Given the description of an element on the screen output the (x, y) to click on. 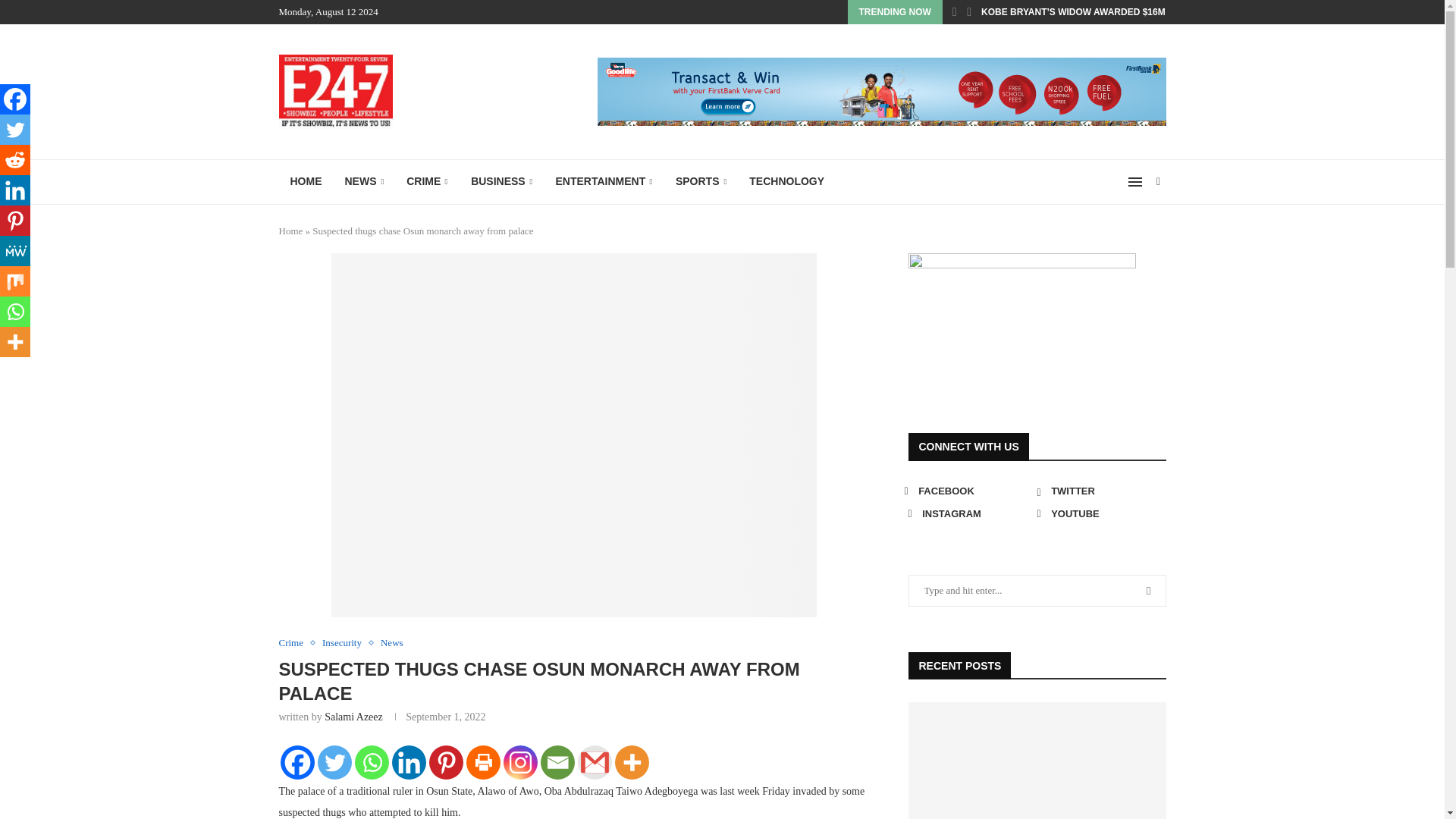
ENTERTAINMENT (603, 181)
NEWS (364, 181)
Home (290, 230)
TECHNOLOGY (786, 181)
BUSINESS (501, 181)
CRIME (427, 181)
Whatsapp (371, 762)
Facebook (297, 762)
More (630, 762)
Twitter (333, 762)
